Given the description of an element on the screen output the (x, y) to click on. 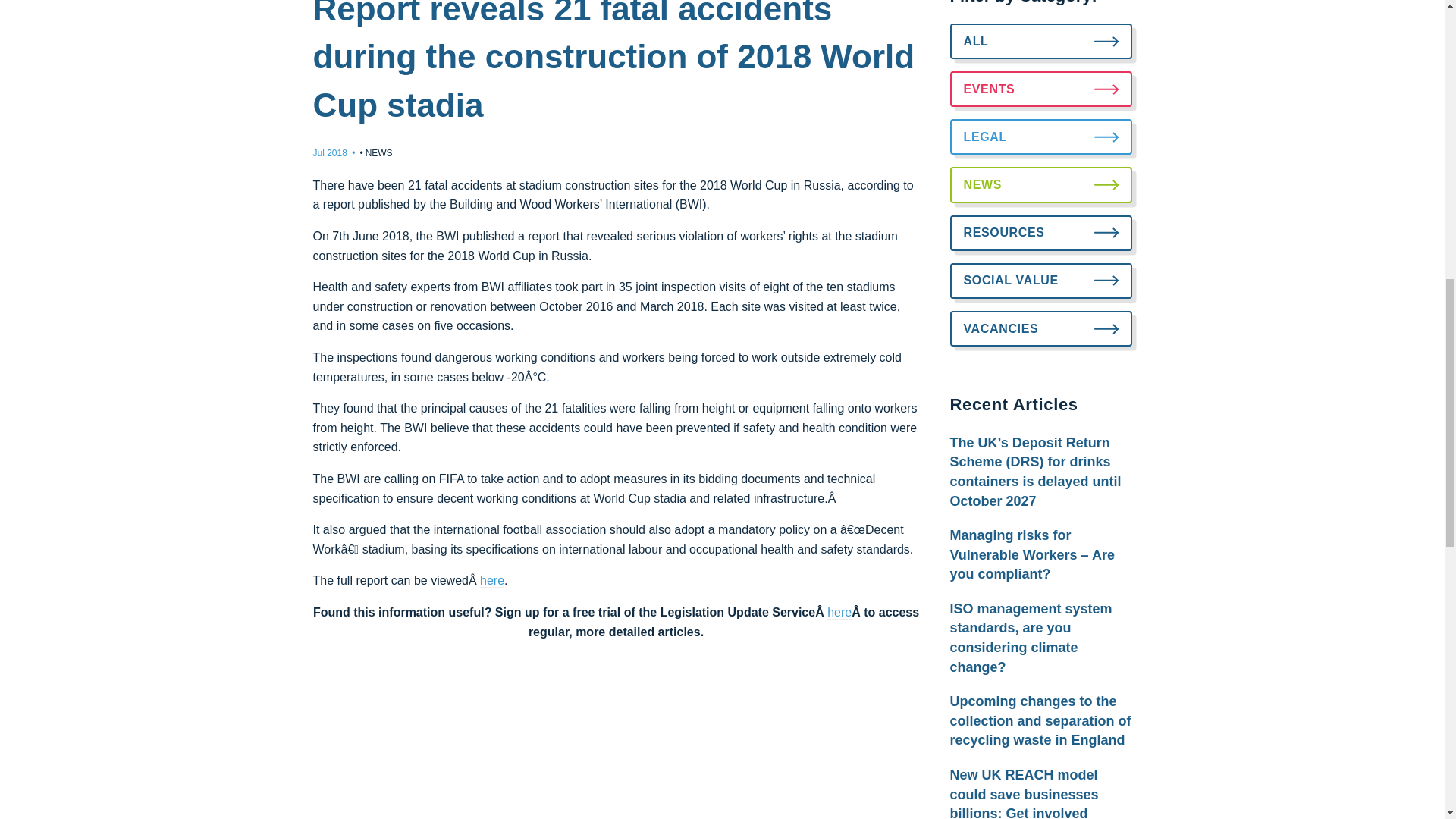
11th July 2018 (329, 153)
